Given the description of an element on the screen output the (x, y) to click on. 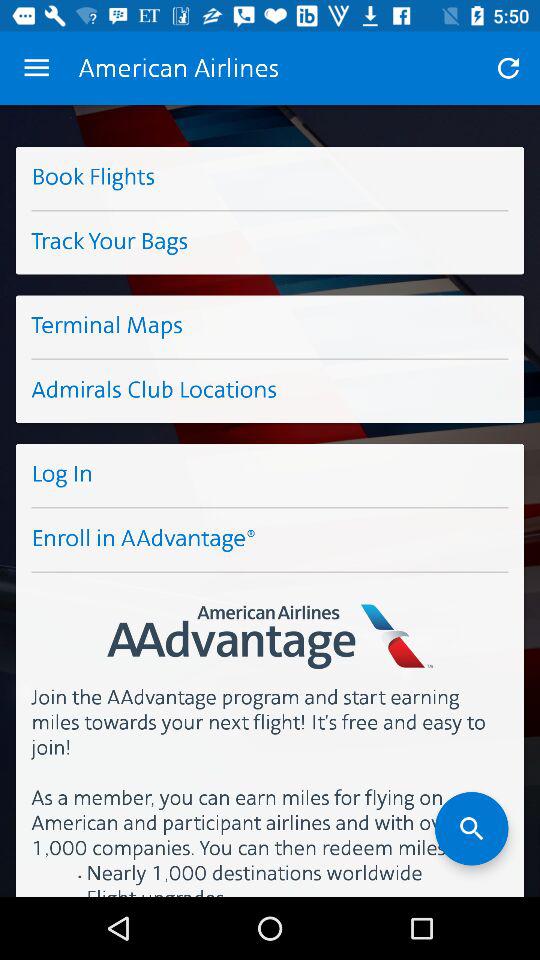
flip until the terminal maps item (269, 326)
